Given the description of an element on the screen output the (x, y) to click on. 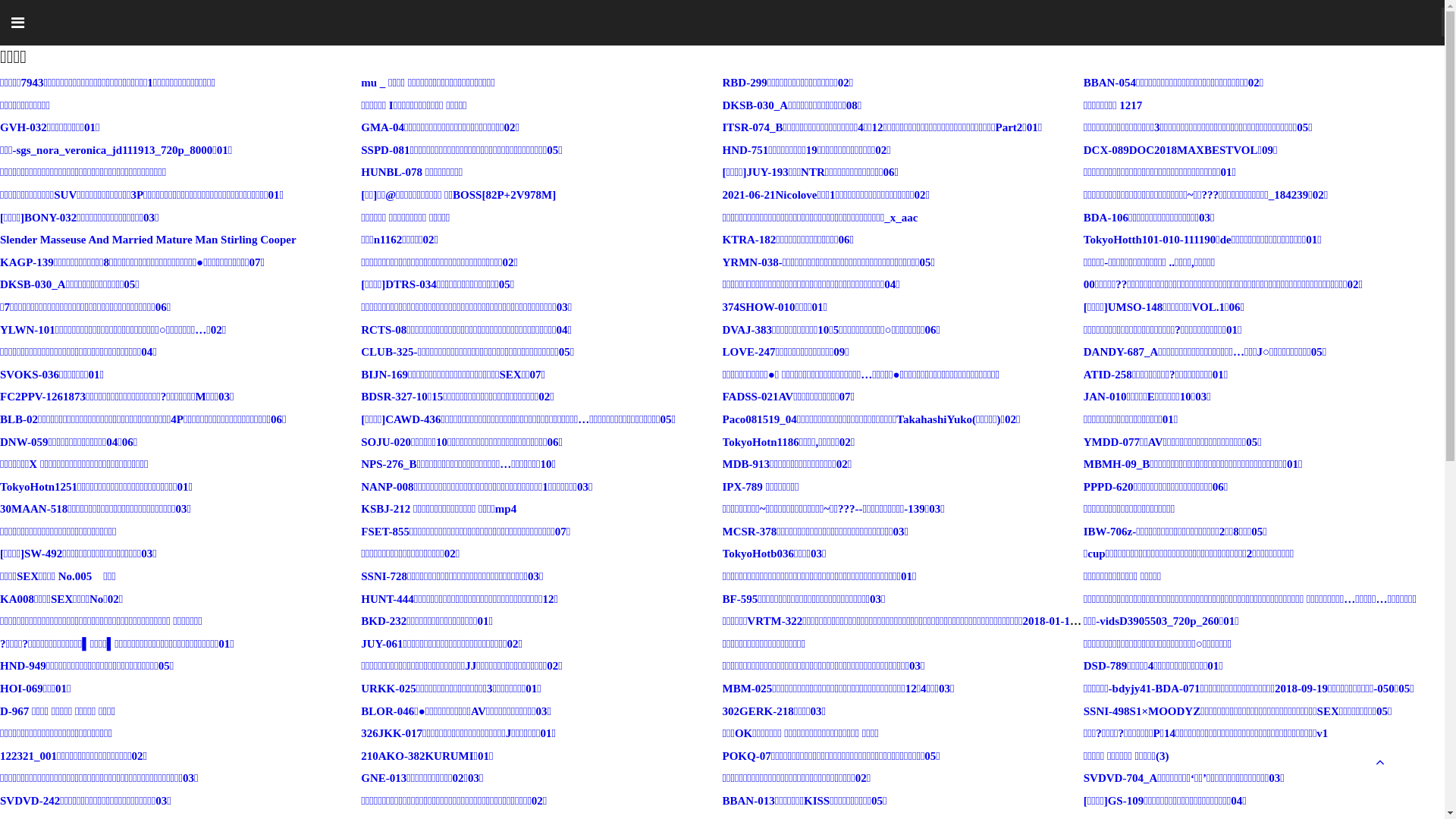
Slender Masseuse And Married Mature Man Stirling Cooper Element type: text (148, 239)
